Given the description of an element on the screen output the (x, y) to click on. 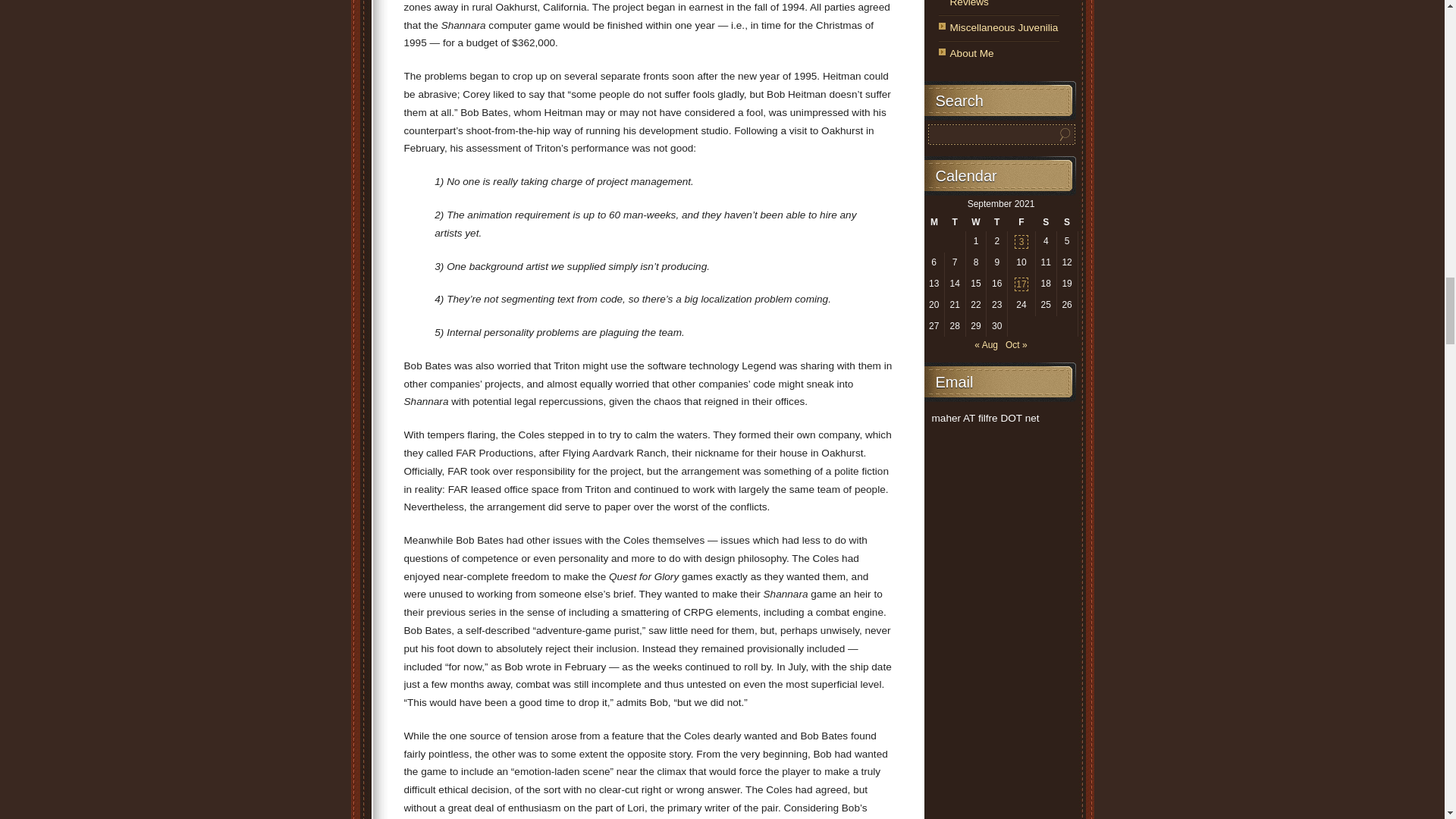
Monday (933, 222)
Wednesday (976, 222)
Sunday (1067, 222)
Saturday (1046, 222)
Search (1064, 134)
Thursday (997, 222)
Friday (1021, 222)
Tuesday (954, 222)
